Given the description of an element on the screen output the (x, y) to click on. 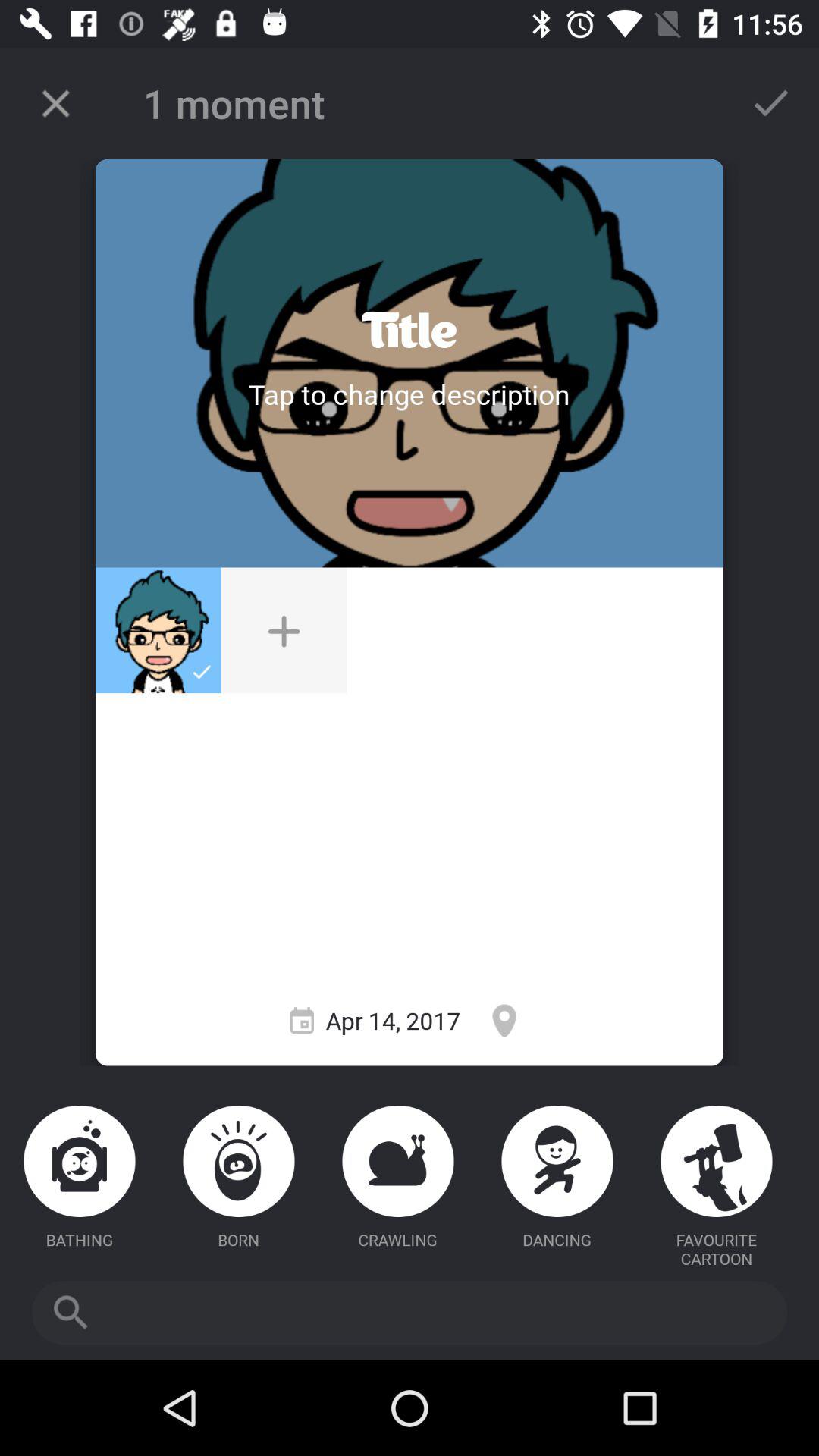
done button (771, 103)
